Given the description of an element on the screen output the (x, y) to click on. 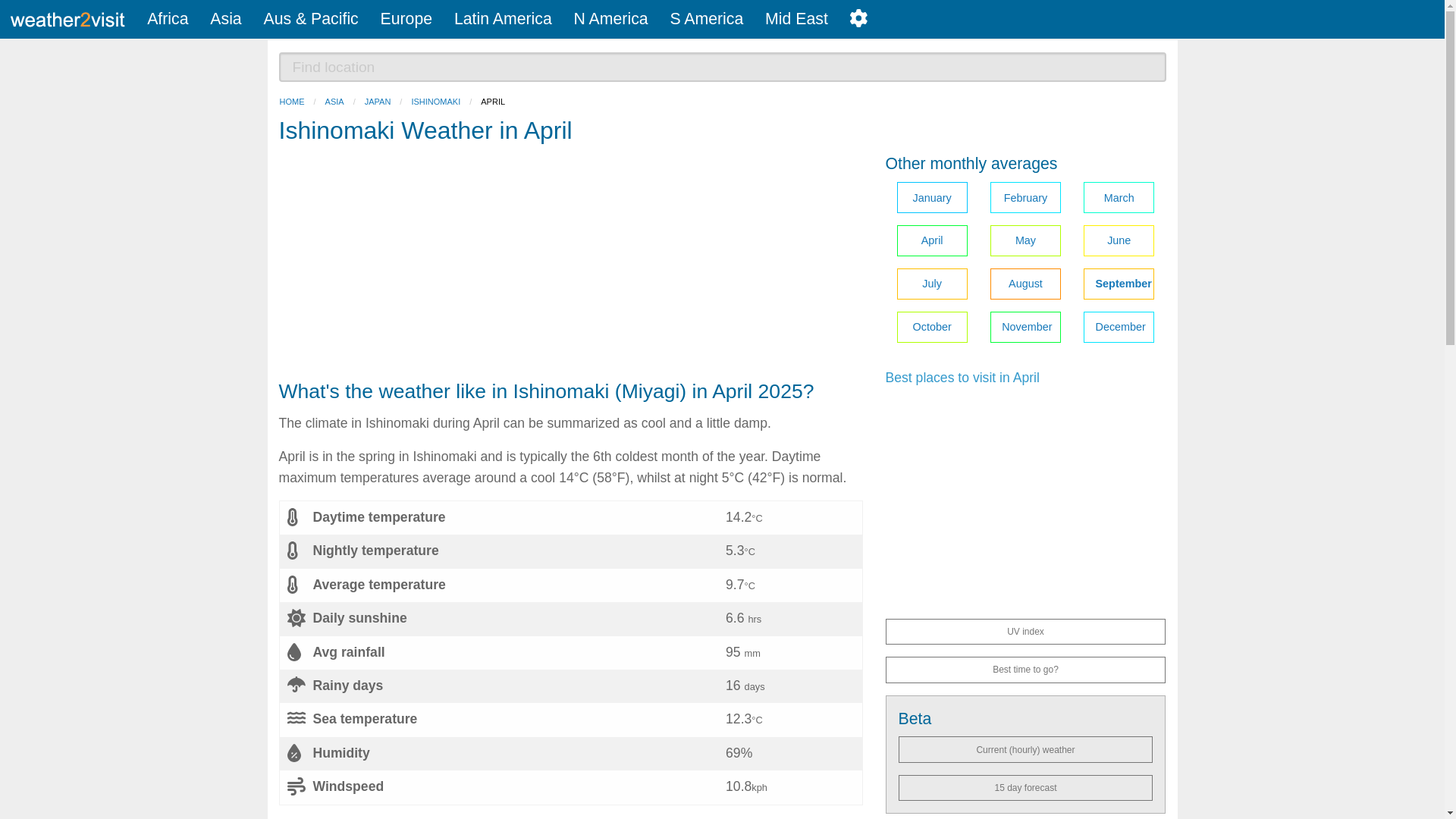
November (1025, 327)
February (1025, 196)
April (931, 240)
Best time to go? (1025, 669)
JAPAN (378, 101)
December (1118, 327)
ASIA (333, 101)
Advertisement (571, 264)
HOME (291, 101)
July (931, 283)
